Given the description of an element on the screen output the (x, y) to click on. 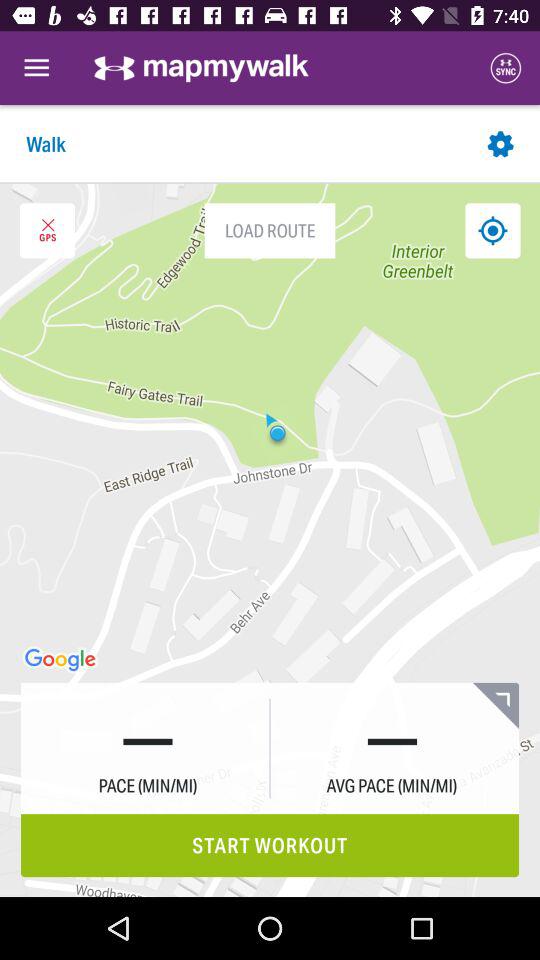
exit gps navigation (47, 230)
